Given the description of an element on the screen output the (x, y) to click on. 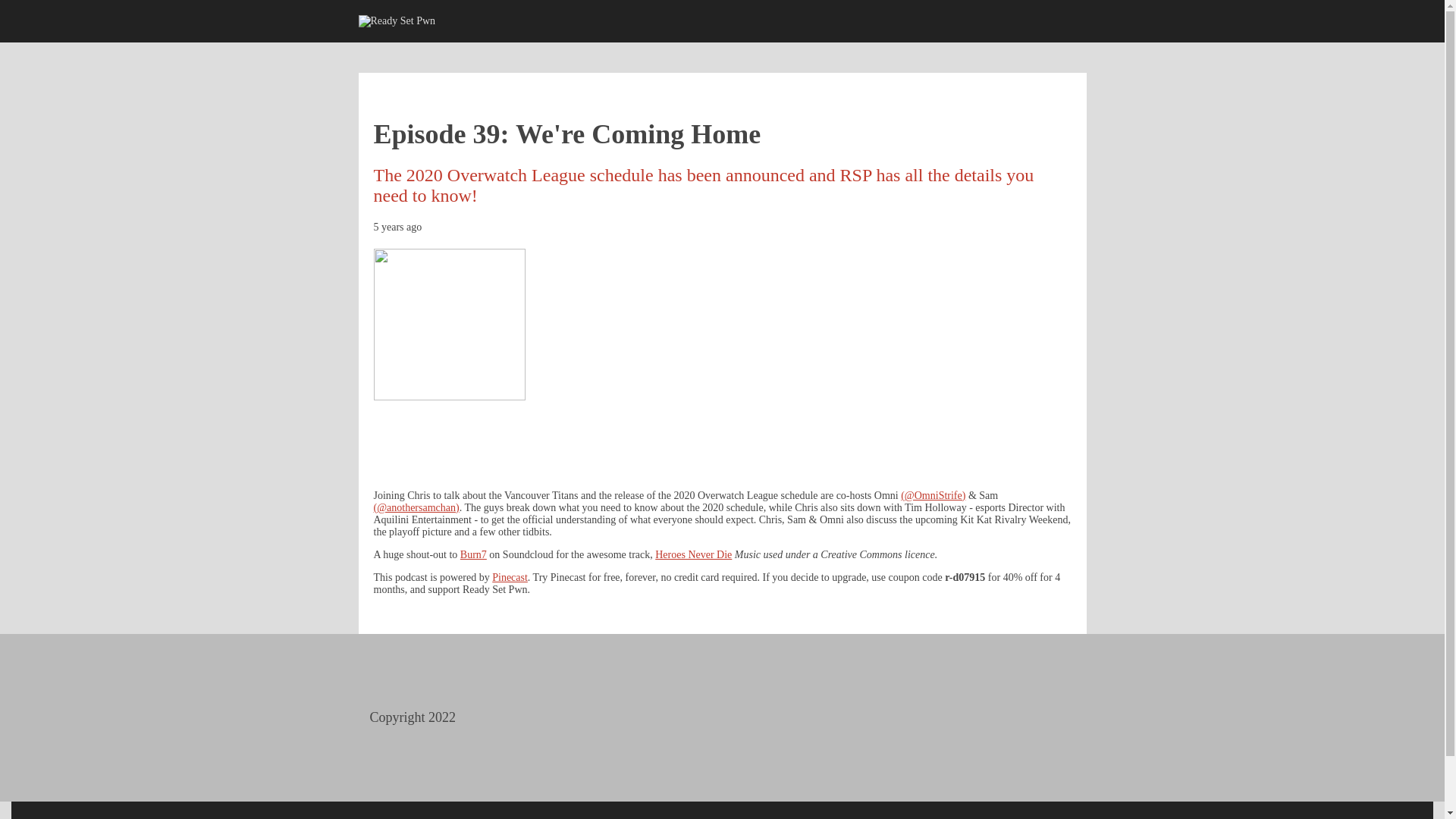
Pinecast (509, 577)
Audio player for Episode 39: We're Coming Home (721, 438)
Heroes Never Die (693, 554)
Burn7 (473, 554)
